Given the description of an element on the screen output the (x, y) to click on. 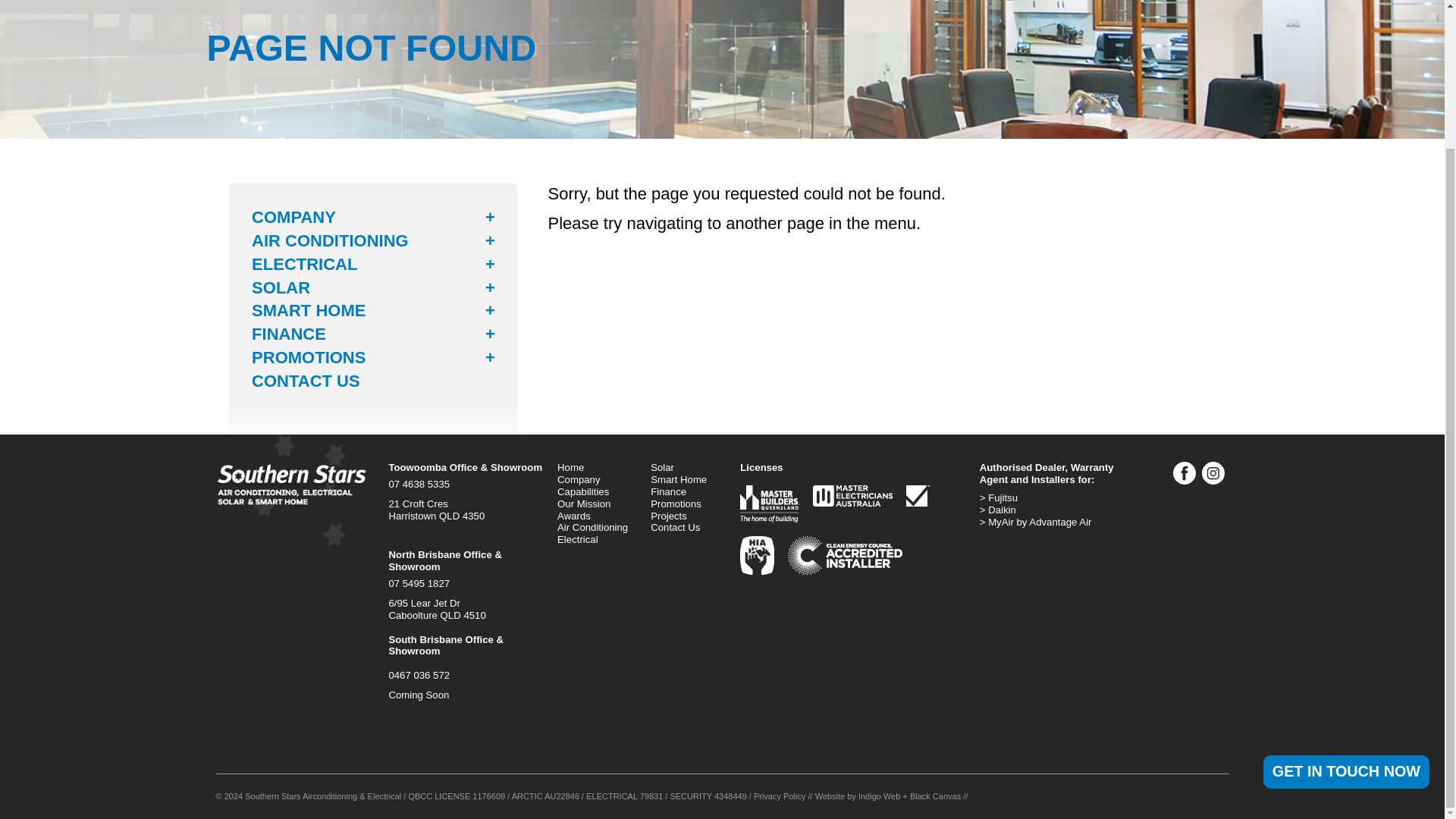
Daikin (1054, 510)
Advantage Air (1054, 522)
Fujitsu (1054, 498)
